Given the description of an element on the screen output the (x, y) to click on. 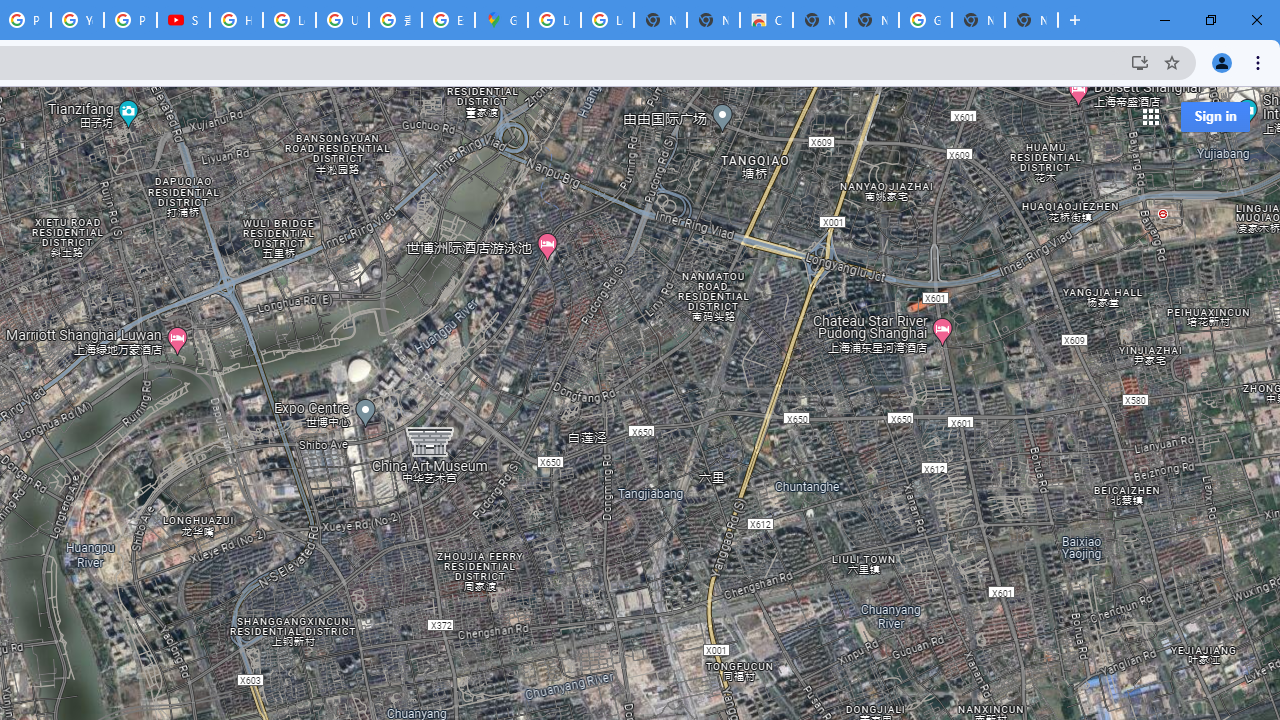
Google apps (1150, 115)
Sign in (1215, 115)
New Tab (1031, 20)
Subscriptions - YouTube (183, 20)
Google Maps (501, 20)
Explore new street-level details - Google Maps Help (448, 20)
